Given the description of an element on the screen output the (x, y) to click on. 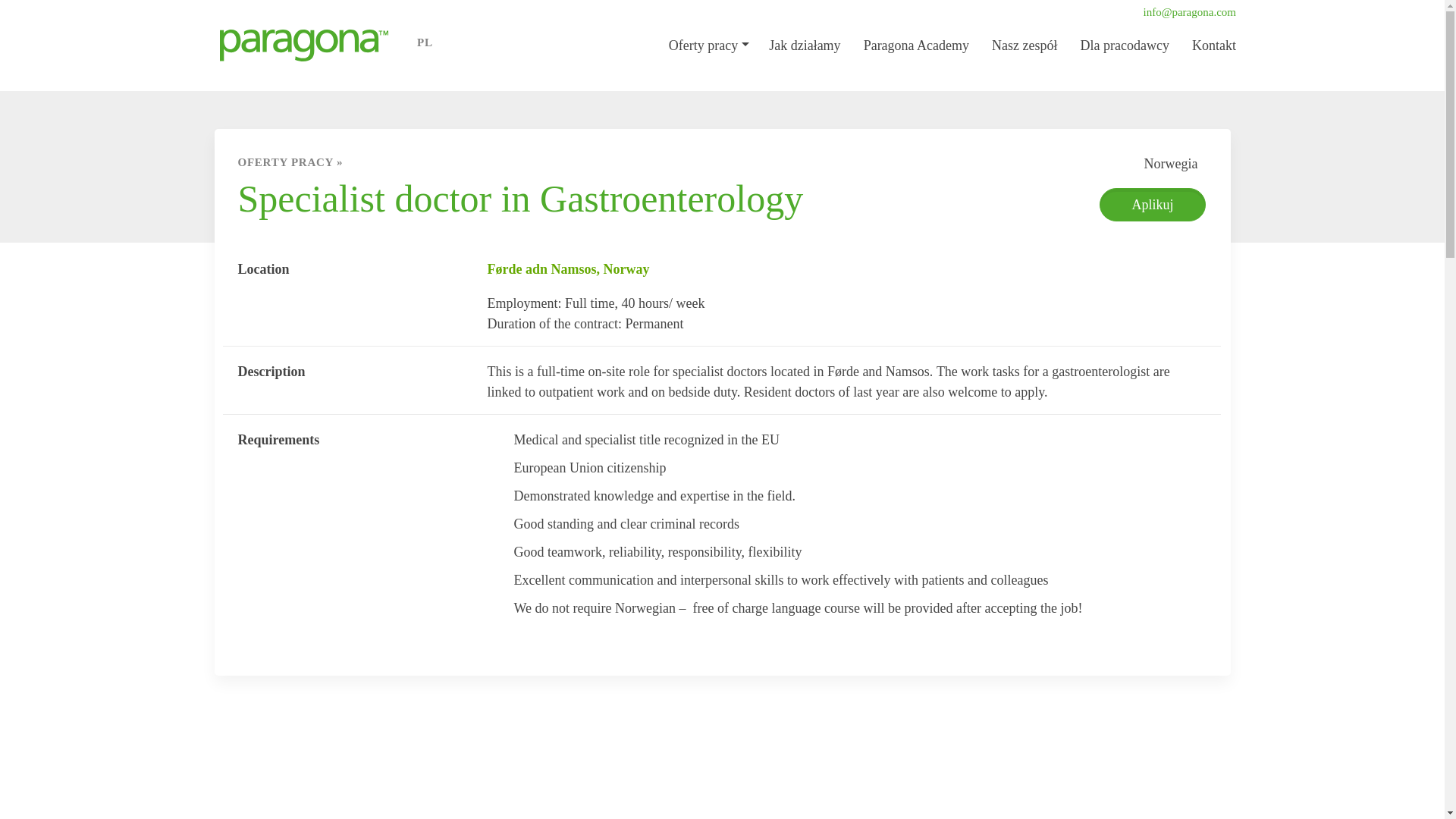
Aplikuj (1152, 204)
Dla pracodawcy (1125, 45)
Paragona Academy (917, 45)
PL (431, 40)
Kontakt (1213, 45)
